Given the description of an element on the screen output the (x, y) to click on. 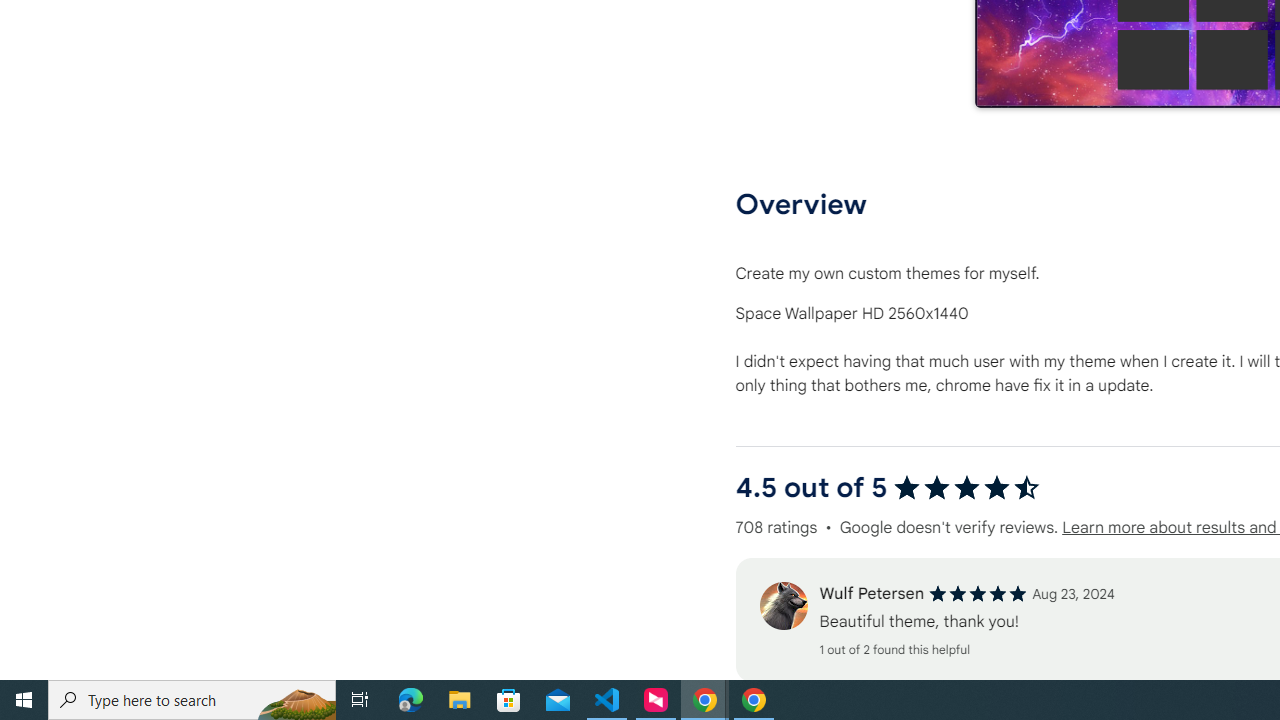
Review's profile picture (783, 605)
4.5 out of 5 stars (965, 488)
5 out of 5 stars (978, 593)
